Given the description of an element on the screen output the (x, y) to click on. 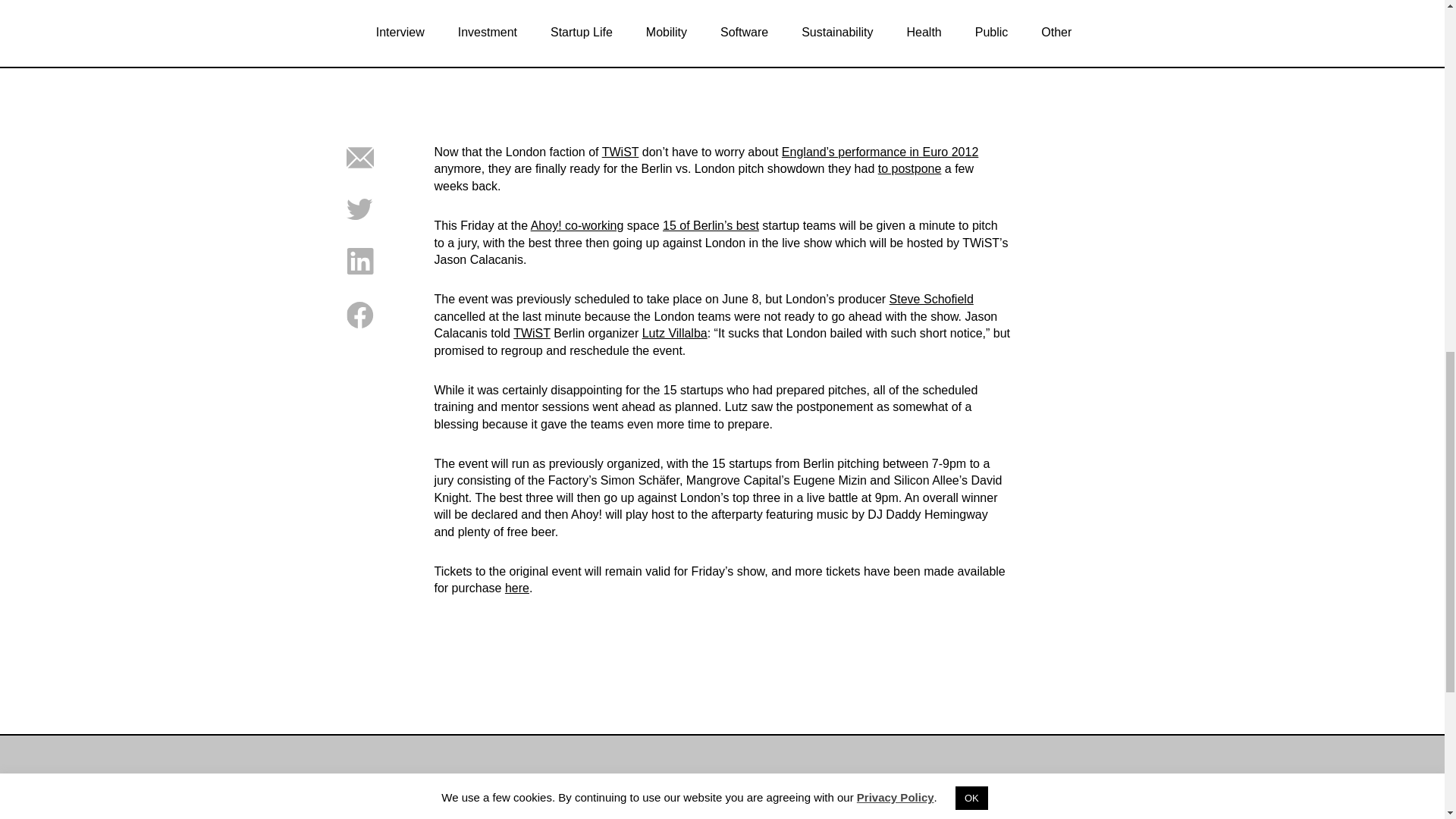
TWiST (620, 151)
Ahoy! co-working (577, 225)
Silicon Allee UG (1103, 805)
TWiST (531, 332)
to postpone (909, 168)
Steve Schofield (931, 298)
here (517, 587)
Contact us (756, 805)
Lutz Villalba (674, 332)
Share by Email (359, 166)
